Given the description of an element on the screen output the (x, y) to click on. 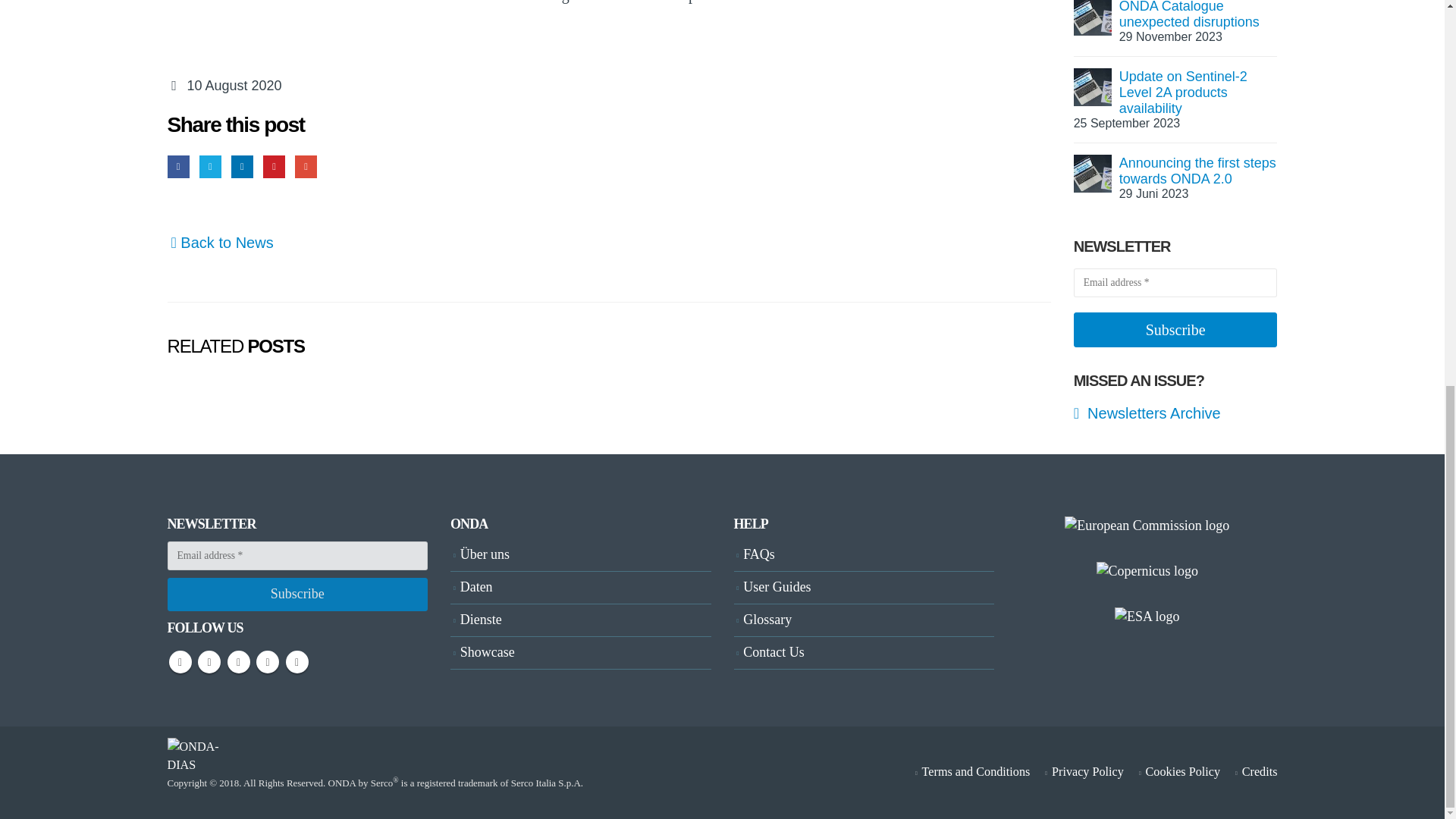
Subscribe (1176, 330)
Subscribe (297, 594)
